Given the description of an element on the screen output the (x, y) to click on. 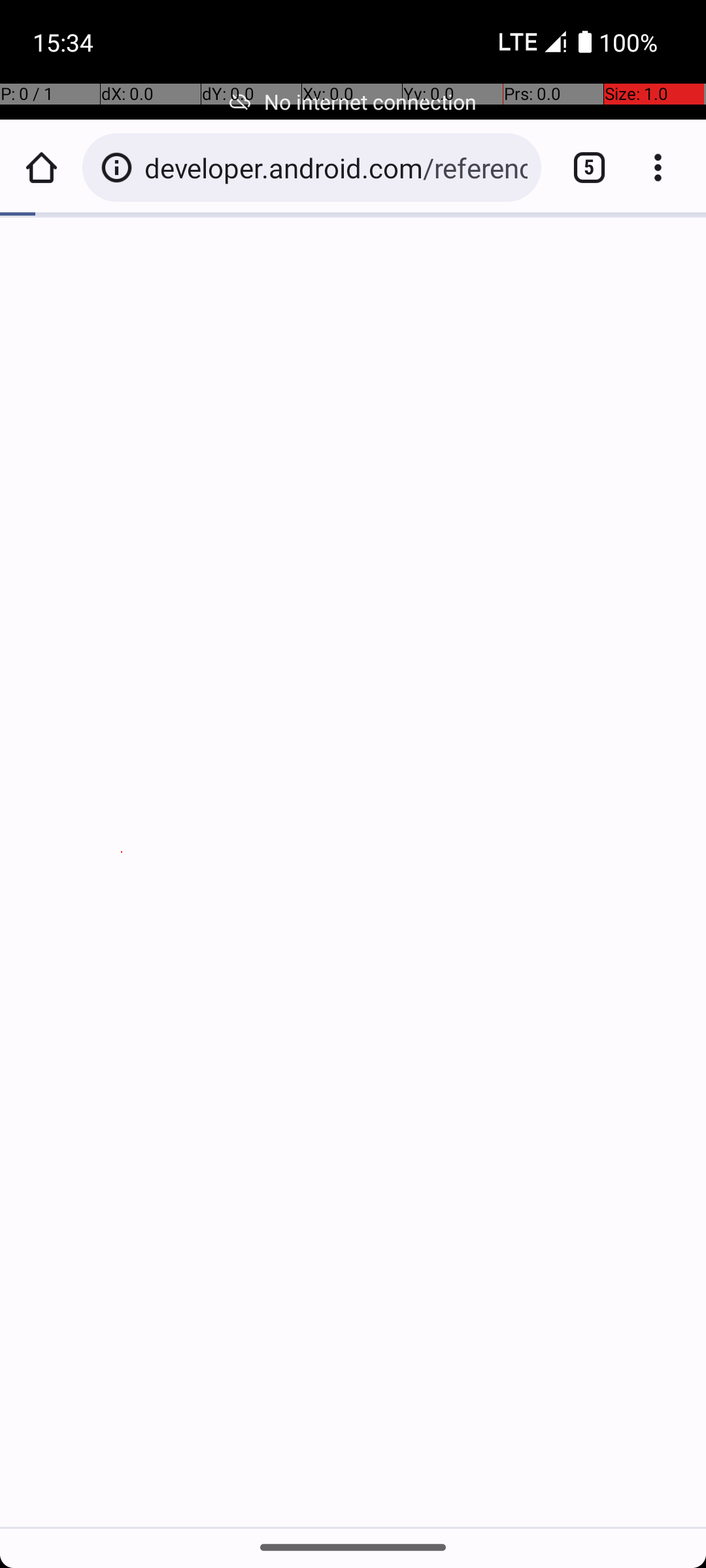
developer.android.com/reference/java/text/SimpleDateFormat#date-and-time-patterns Element type: android.widget.EditText (335, 167)
